Given the description of an element on the screen output the (x, y) to click on. 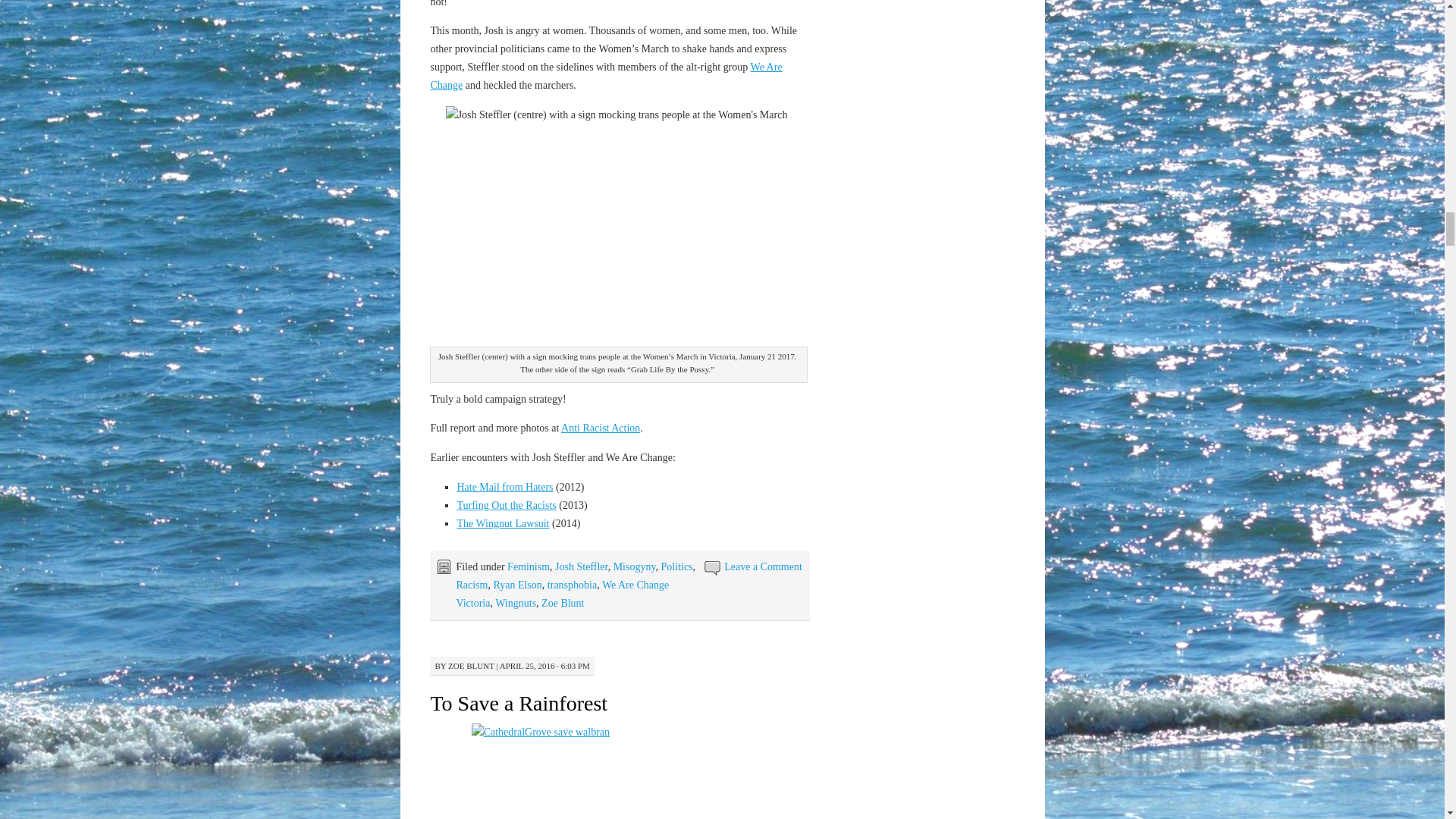
Josh Steffler (581, 566)
Feminism (528, 566)
Hate Mail from Haters (505, 487)
Leave a Comment (762, 566)
Turfing Out the Racists (506, 505)
View all posts by Zoe Blunt (471, 665)
The Wingnut Lawsuit (502, 523)
We Are Change (605, 75)
Anti Racist Action (600, 428)
Misogyny (634, 566)
Politics (677, 566)
